Given the description of an element on the screen output the (x, y) to click on. 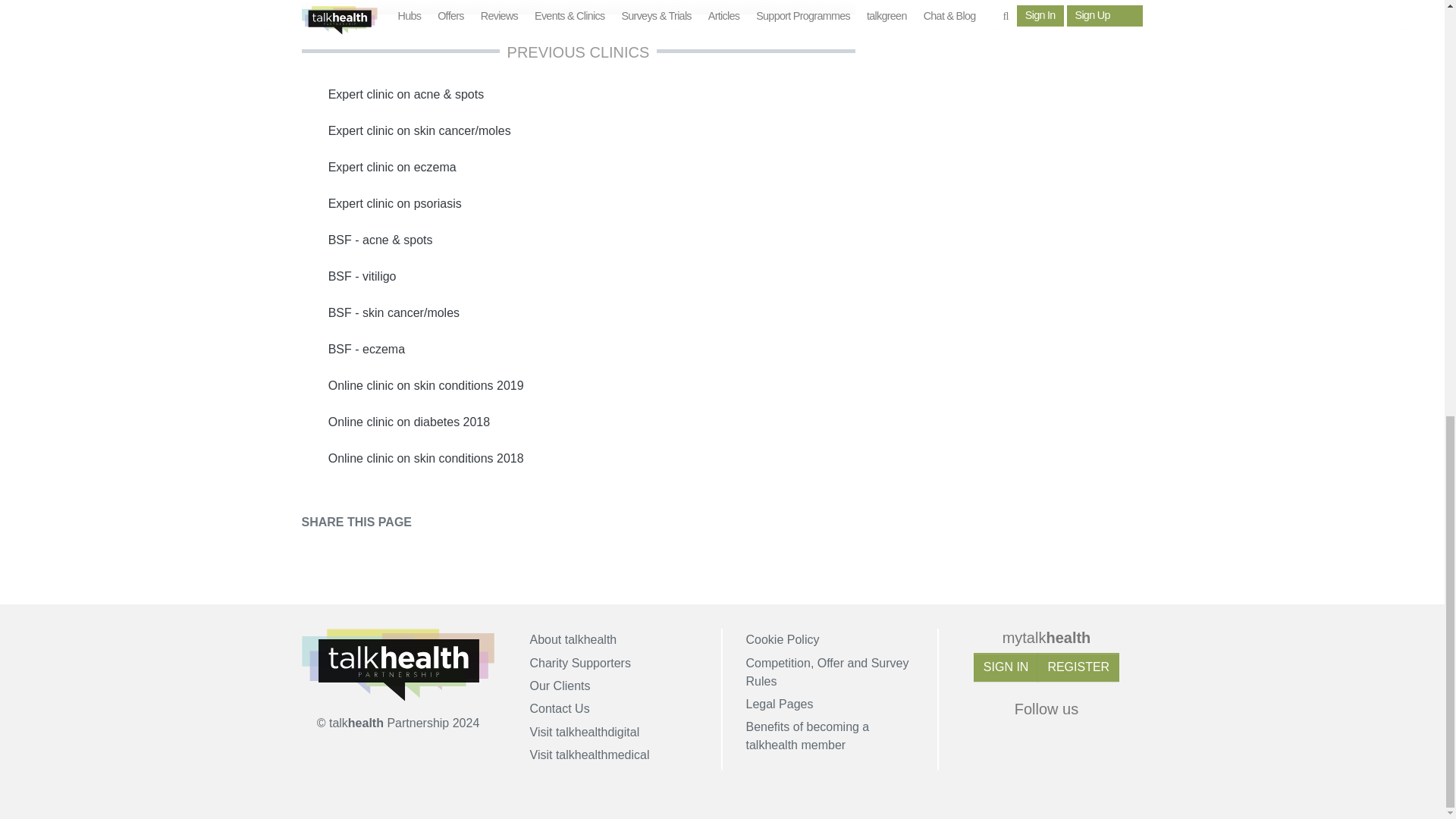
Expert clinic on psoriasis (578, 203)
Expert clinic on eczema (578, 167)
BSF - vitiligo (578, 276)
